Given the description of an element on the screen output the (x, y) to click on. 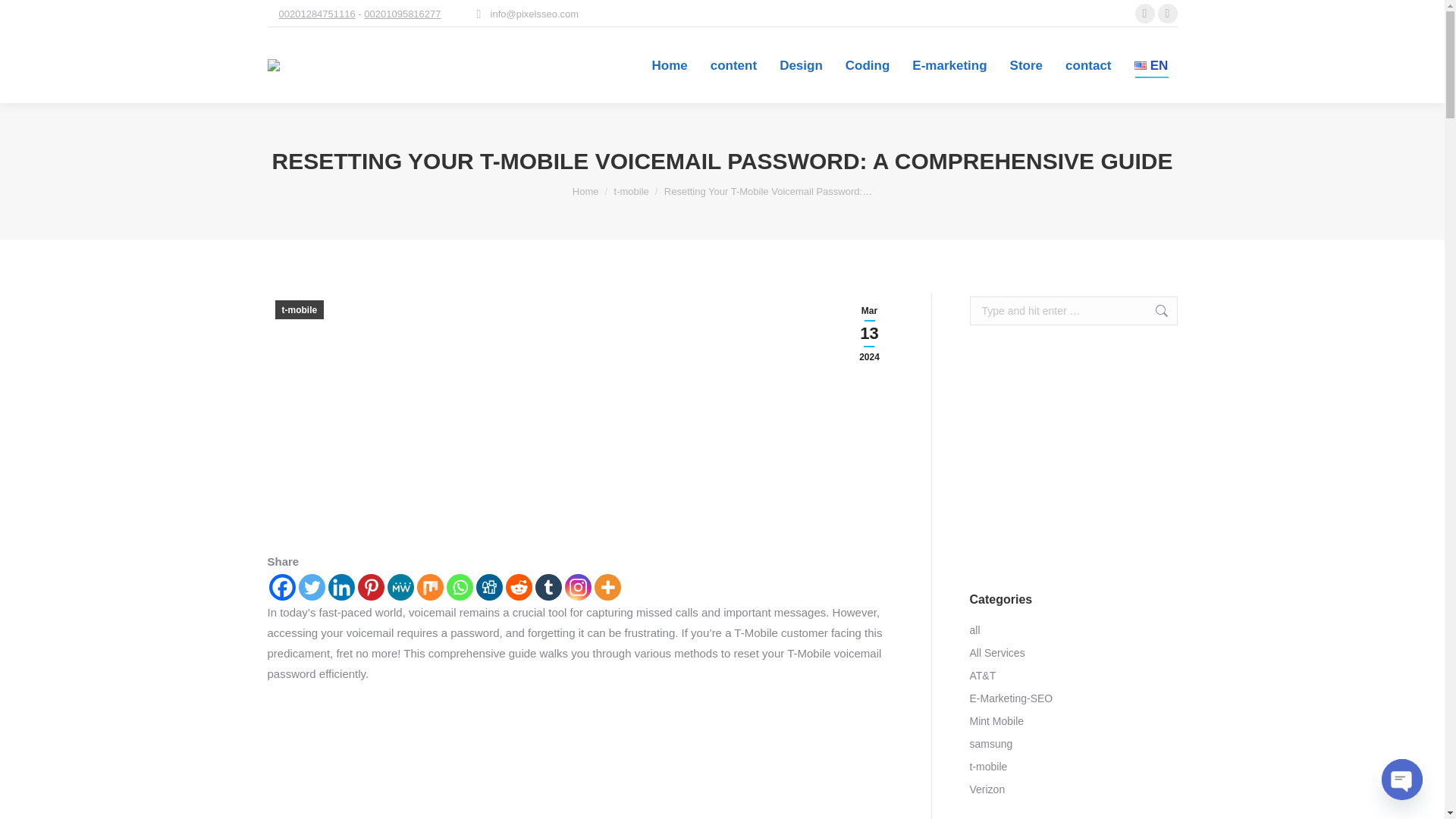
contact (1087, 64)
Twitter page opens in new window (1166, 13)
Facebook page opens in new window (1144, 13)
Design (801, 64)
t-mobile (631, 191)
Home (585, 191)
EN (1151, 64)
Go! (1153, 310)
Facebook (281, 587)
Twitter (311, 587)
Store (1026, 64)
MeWe (400, 587)
Facebook page opens in new window (1144, 13)
Pinterest (371, 587)
Linkedin (340, 587)
